Given the description of an element on the screen output the (x, y) to click on. 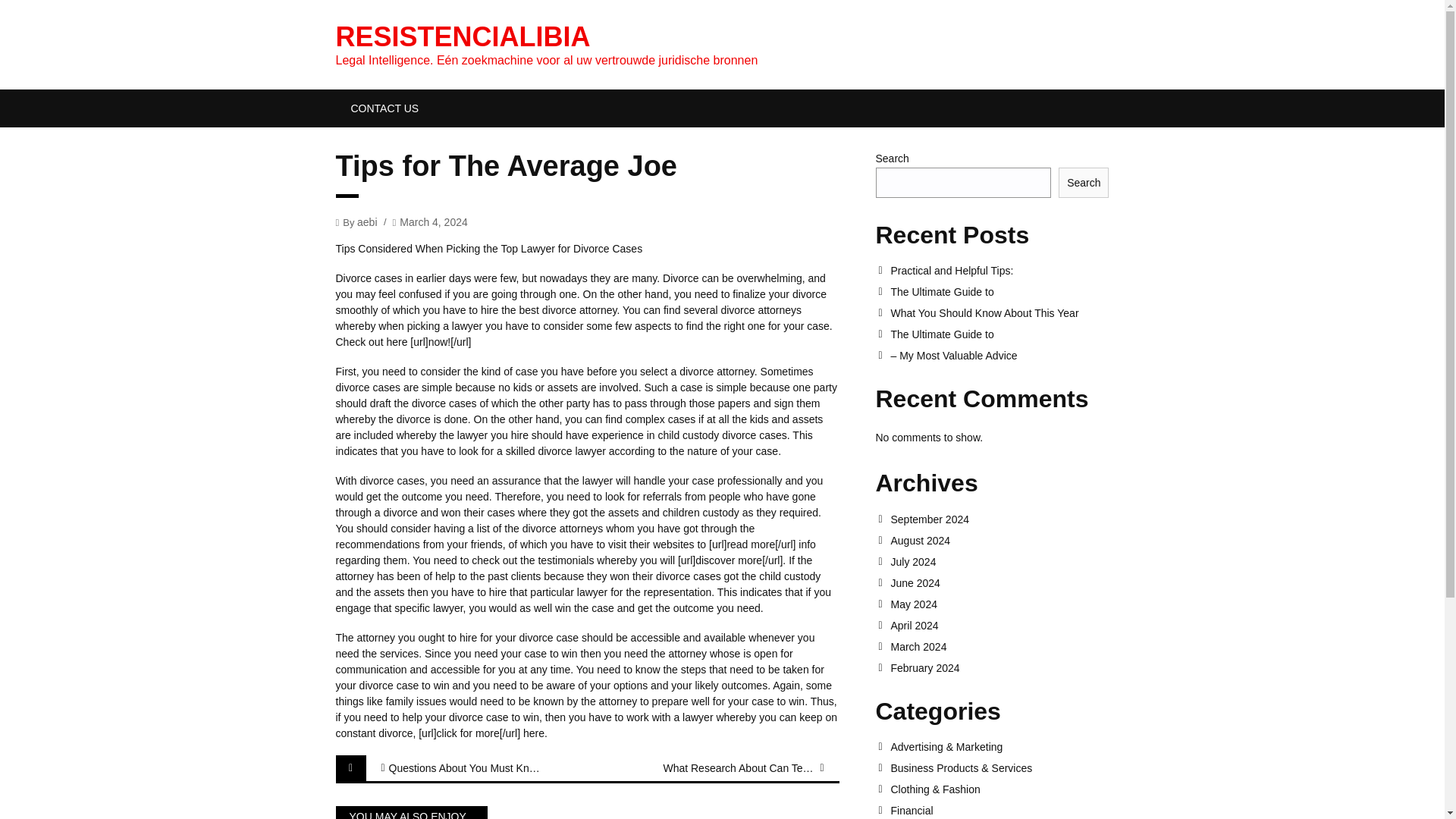
The Ultimate Guide to (998, 291)
RESISTENCIALIBIA (461, 36)
March 2024 (998, 646)
July 2024 (998, 562)
April 2024 (998, 625)
Financial (998, 810)
August 2024 (998, 540)
March 4, 2024 (432, 221)
Search (1083, 182)
CONTACT US (383, 108)
